Given the description of an element on the screen output the (x, y) to click on. 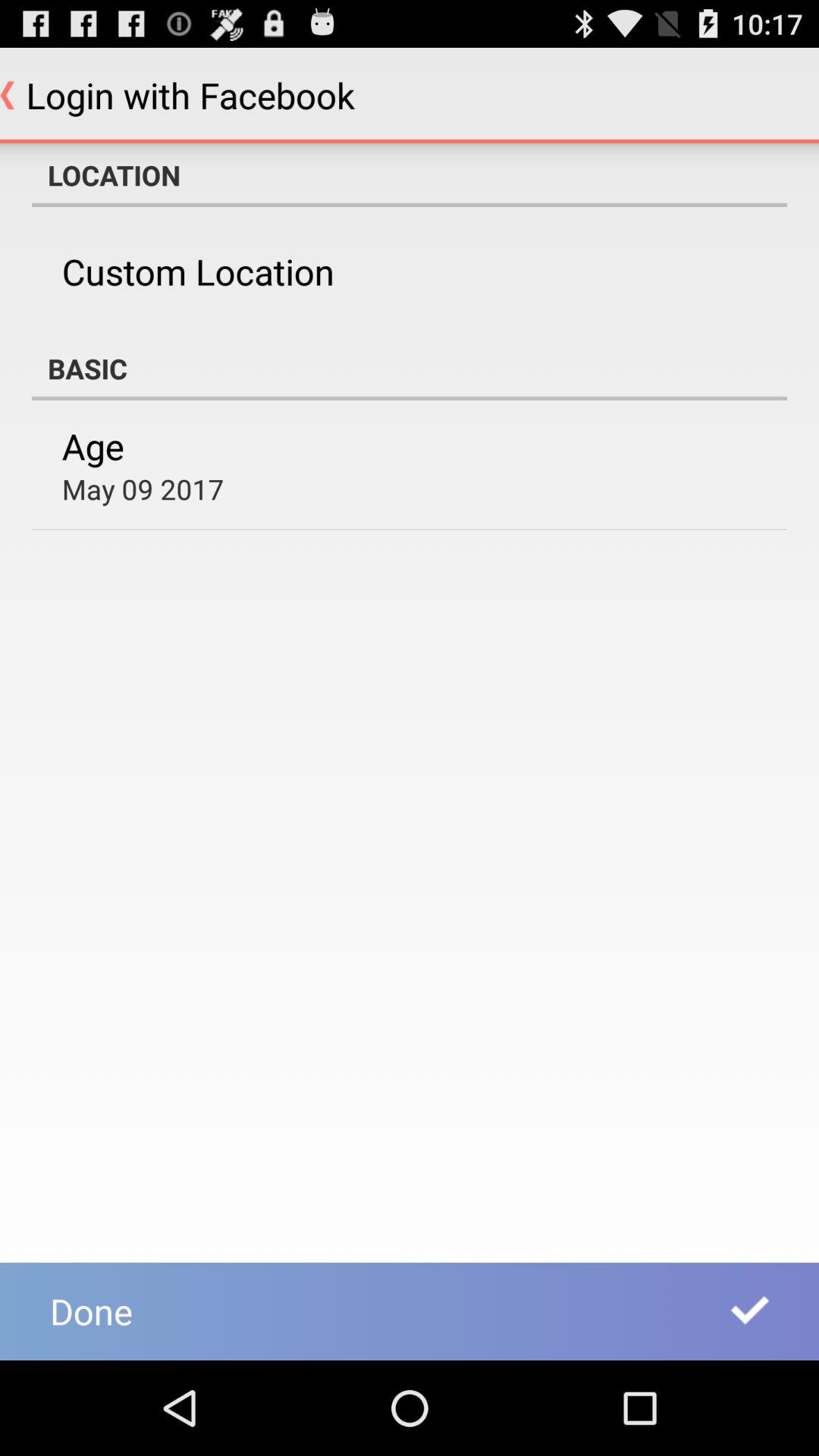
turn off age icon (92, 446)
